Given the description of an element on the screen output the (x, y) to click on. 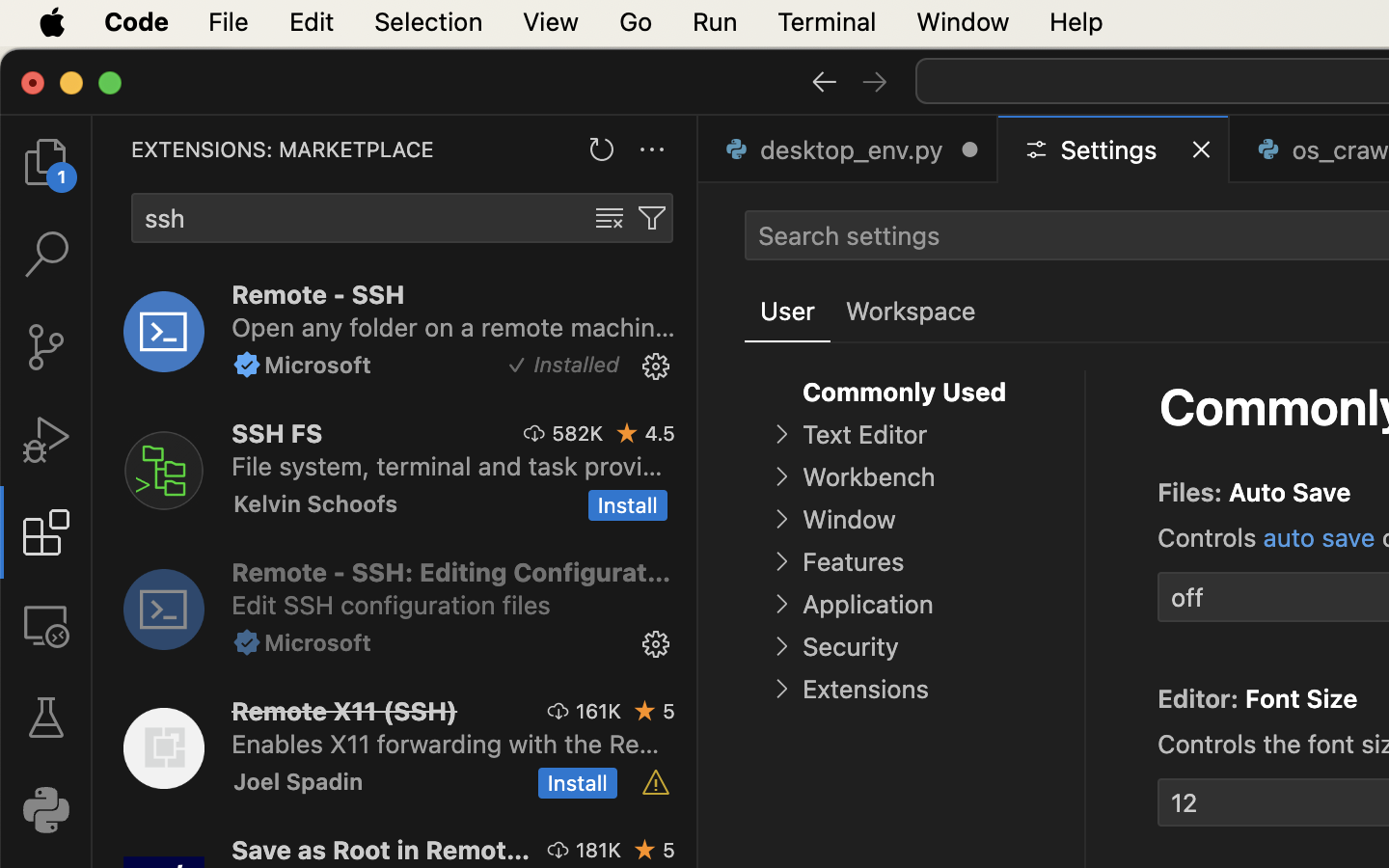
Edit SSH configuration files Element type: AXStaticText (391, 604)
0  Element type: AXRadioButton (46, 254)
 Element type: AXStaticText (1108, 487)
✓ Element type: AXStaticText (516, 365)
1 Settings   Element type: AXRadioButton (1114, 149)
